Given the description of an element on the screen output the (x, y) to click on. 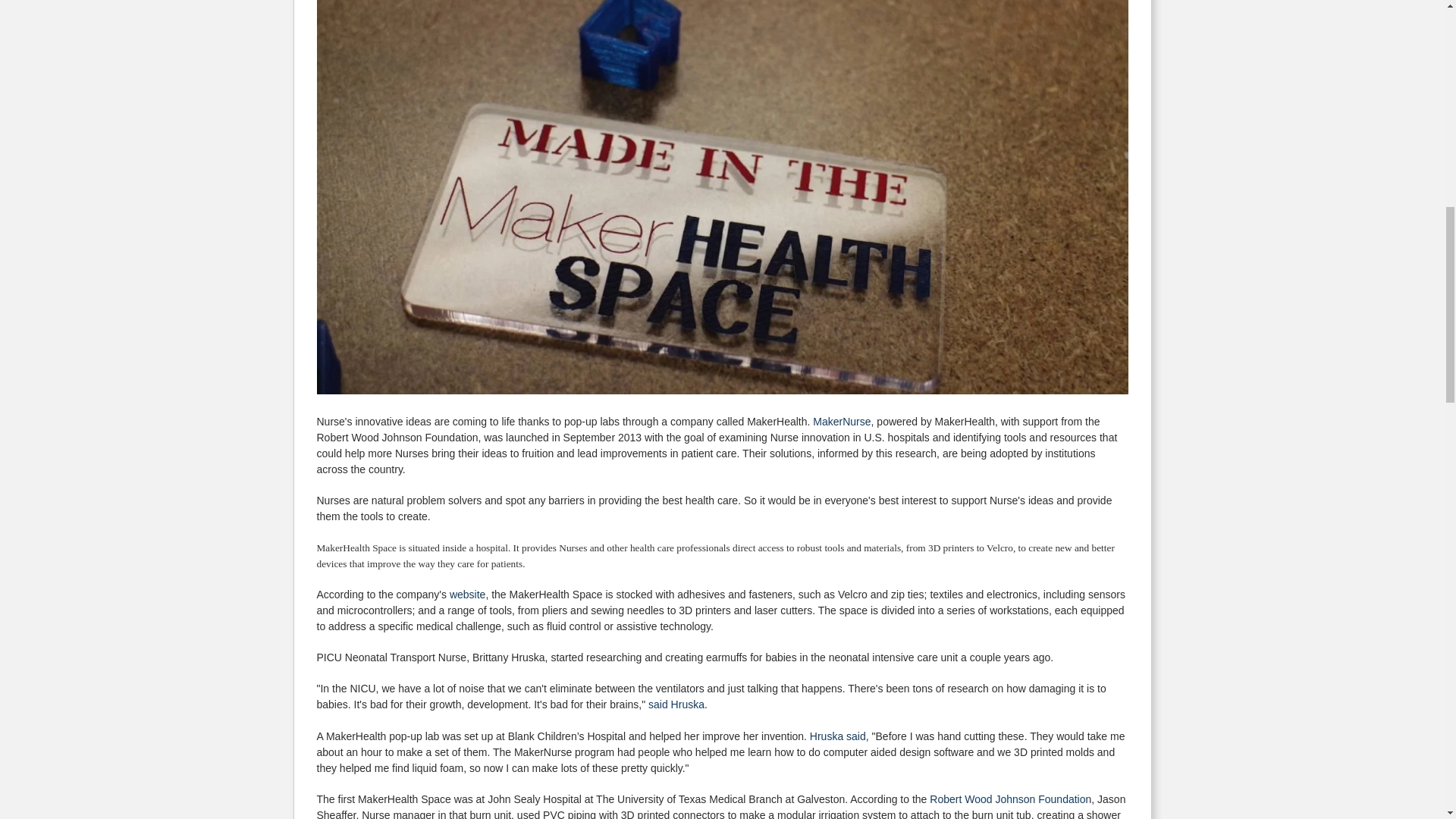
Hruska said (837, 736)
MakerNurse (841, 421)
Robert Wood Johnson Foundation (1010, 799)
website (466, 594)
said Hruska (675, 704)
